Given the description of an element on the screen output the (x, y) to click on. 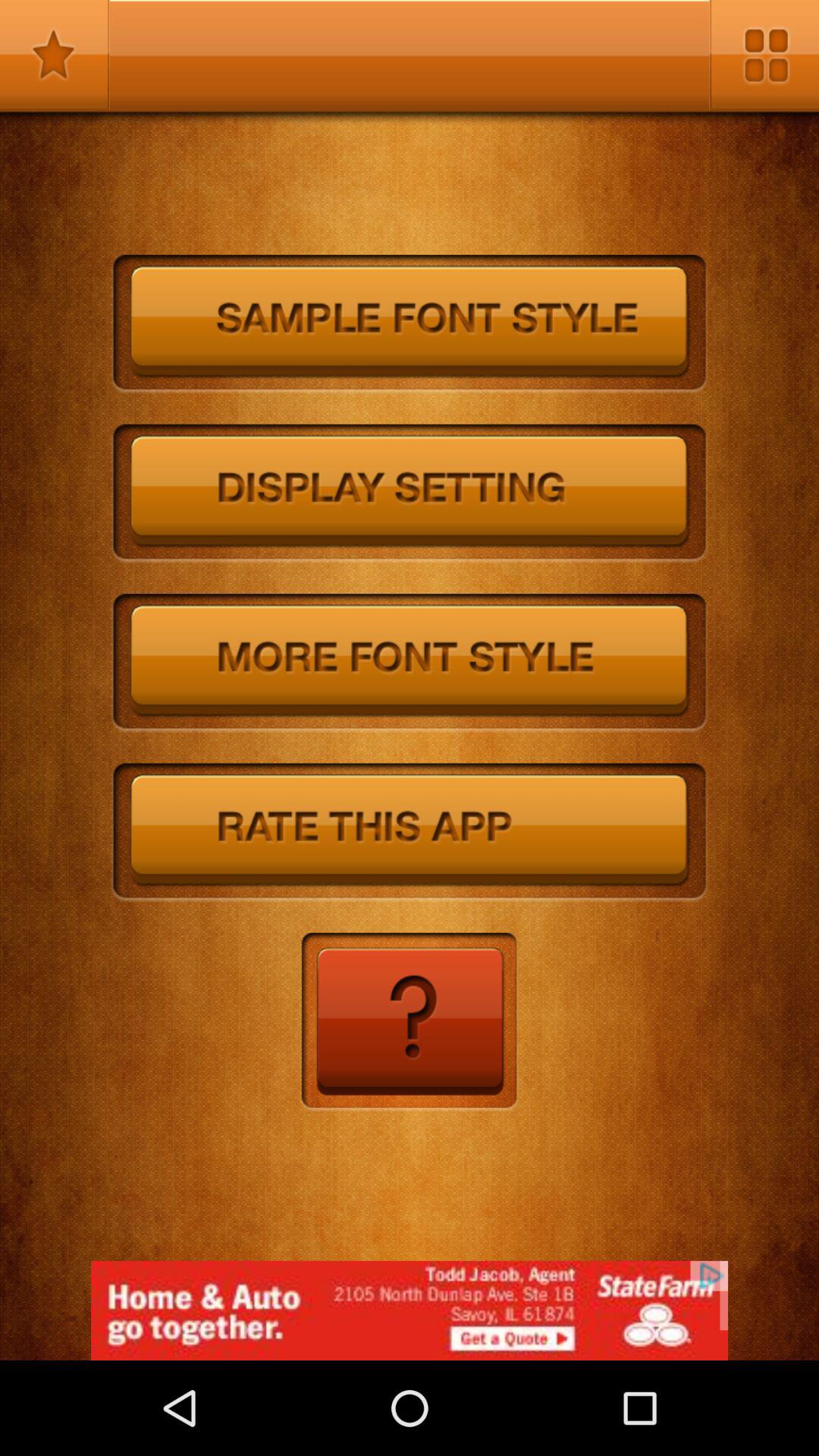
display setting button (409, 493)
